Given the description of an element on the screen output the (x, y) to click on. 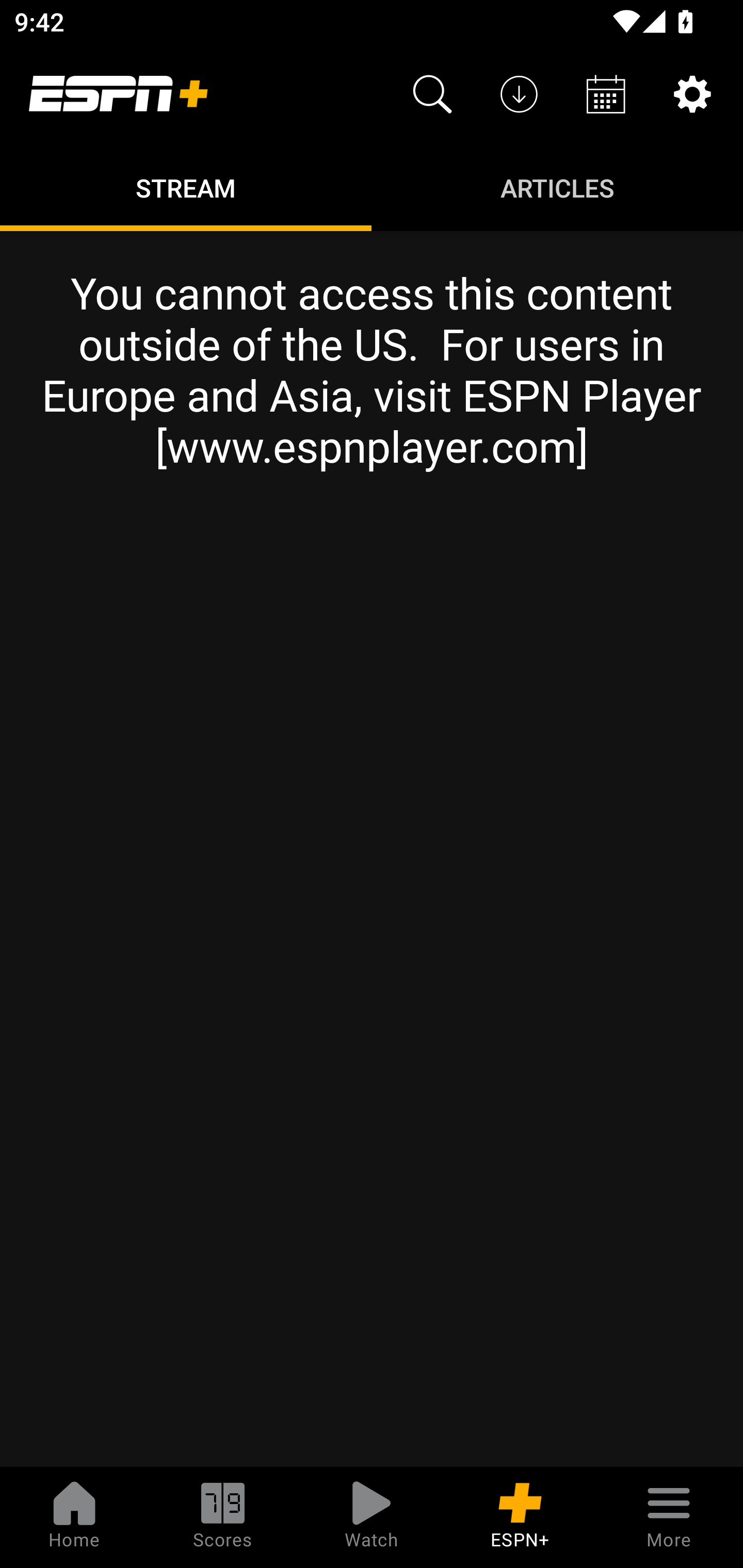
Search (432, 93)
Downloads (518, 93)
Schedule (605, 93)
Settings (692, 93)
Articles ARTICLES (557, 187)
Home (74, 1517)
Scores (222, 1517)
Watch (371, 1517)
More (668, 1517)
